Given the description of an element on the screen output the (x, y) to click on. 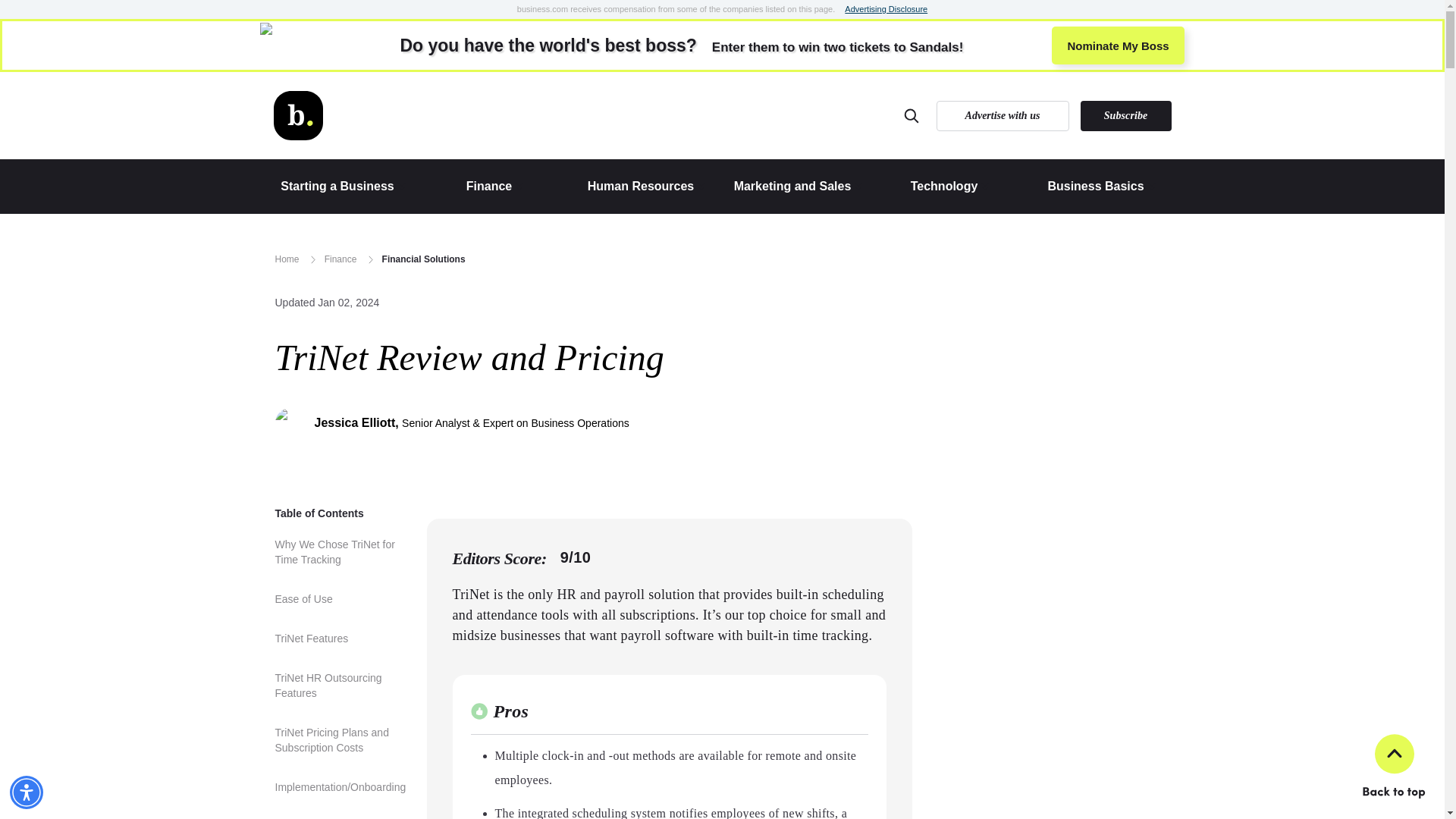
Subscribe (1125, 115)
Arrow (984, 186)
Arrow (342, 185)
Arrow (401, 186)
BDC Logo (646, 185)
Nominate My Boss (857, 186)
Arrow (494, 185)
Arrow (297, 115)
BDC Logo (1117, 45)
Advertise with us (518, 186)
Advertising Disclosure (311, 259)
Arrow (297, 115)
